Given the description of an element on the screen output the (x, y) to click on. 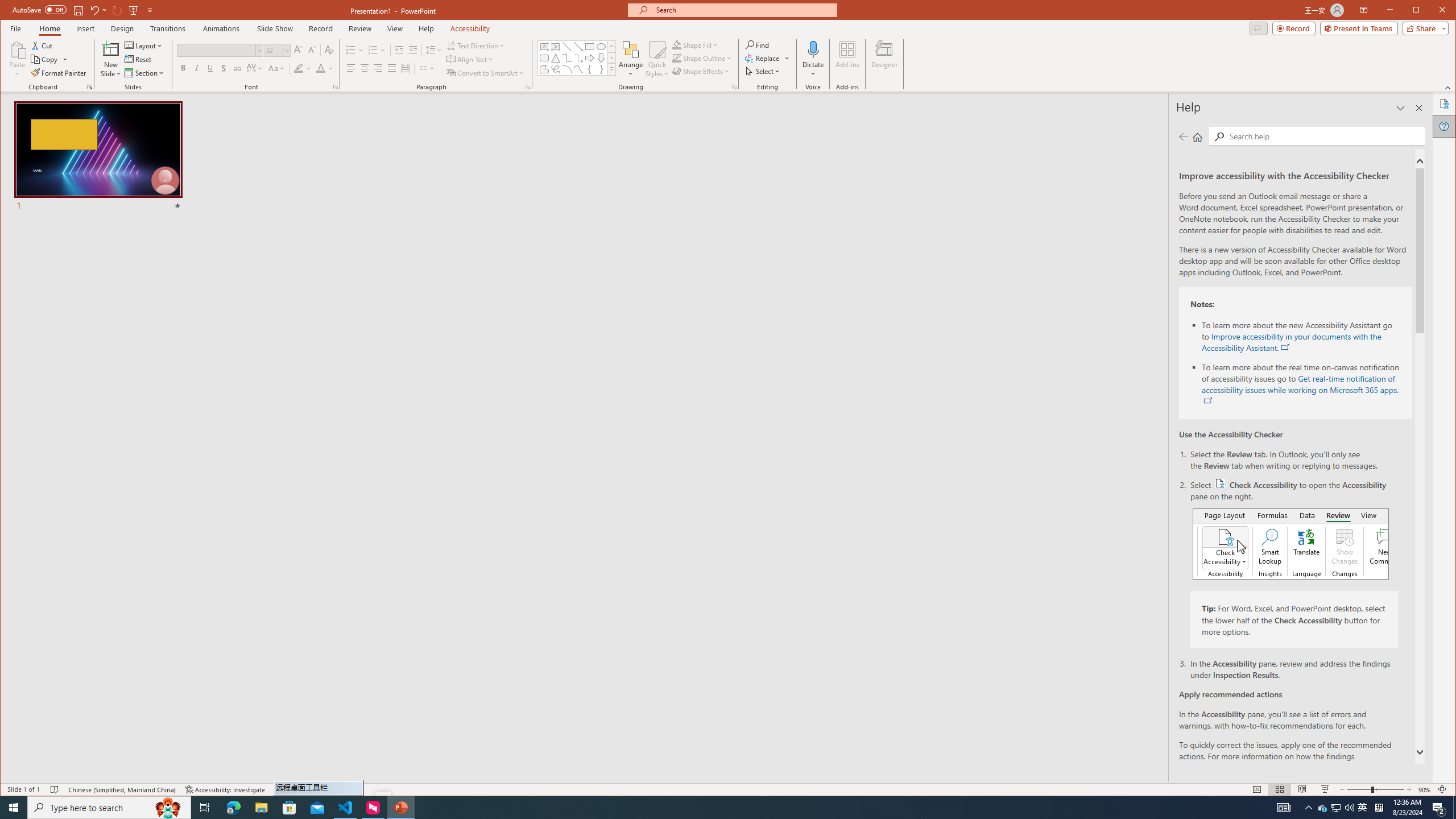
Layout (143, 45)
Microsoft search (1322, 807)
Align Left (742, 10)
